Given the description of an element on the screen output the (x, y) to click on. 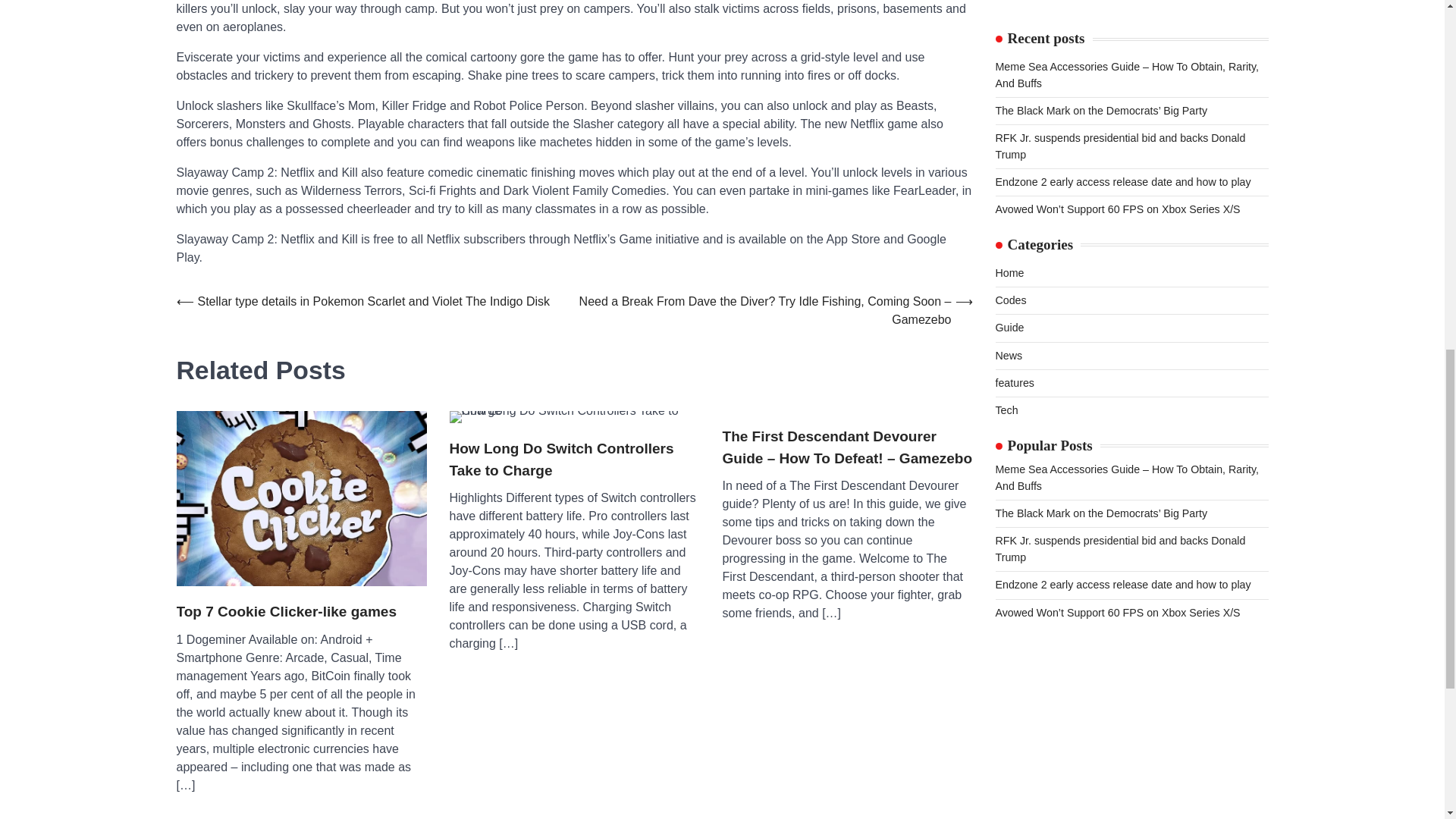
How Long Do Switch Controllers Take to Charge (573, 417)
How Long Do Switch Controllers Take to Charge (573, 459)
Top 7 Cookie Clicker-like games (301, 498)
Top 7 Cookie Clicker-like games (286, 612)
